Given the description of an element on the screen output the (x, y) to click on. 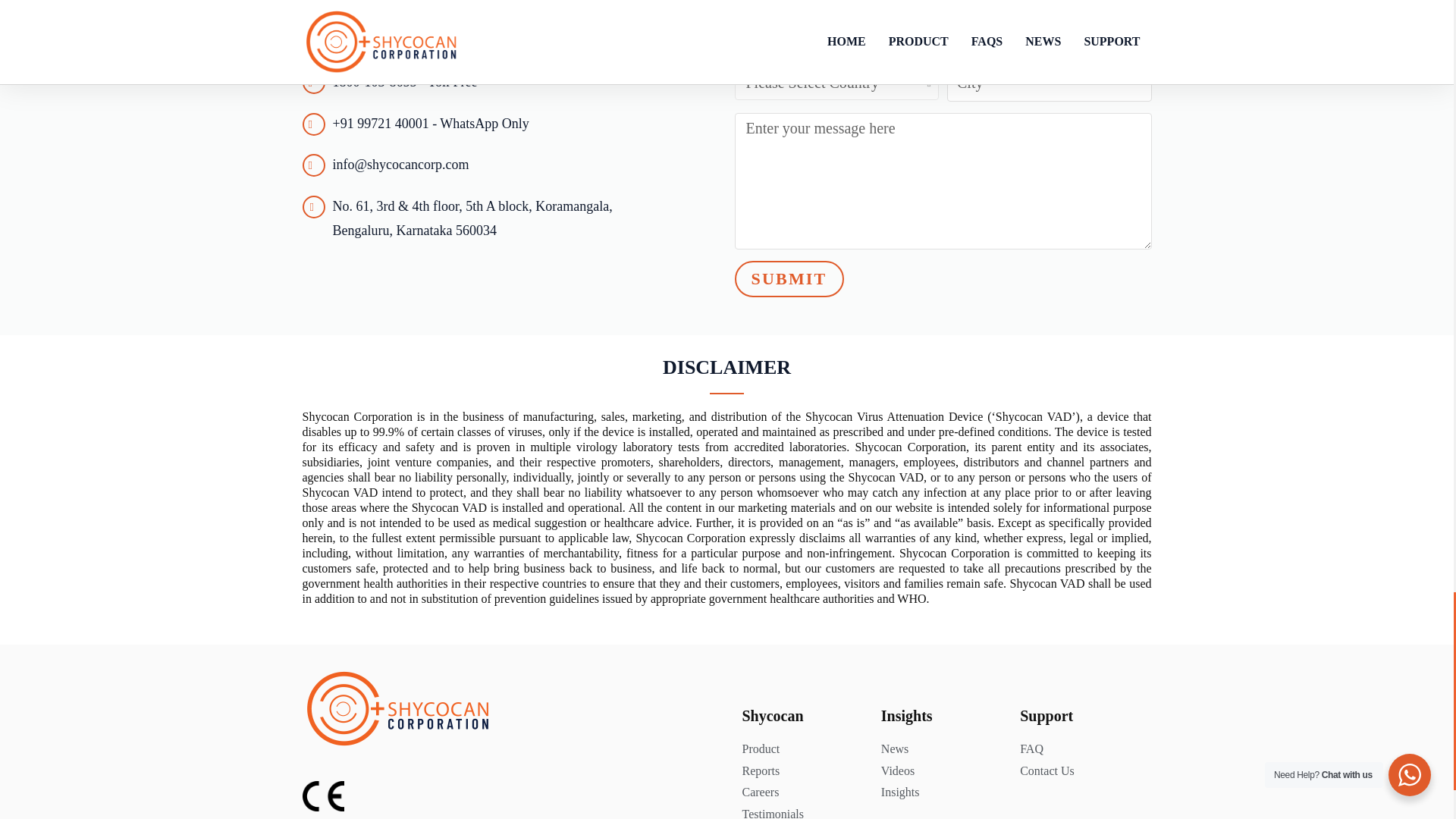
SUBMIT (788, 279)
Reports (802, 771)
1800-103-8655 - Toll Free (486, 81)
Product (802, 749)
SHYCOCAN CORPORATION-LOGO (397, 709)
